Given the description of an element on the screen output the (x, y) to click on. 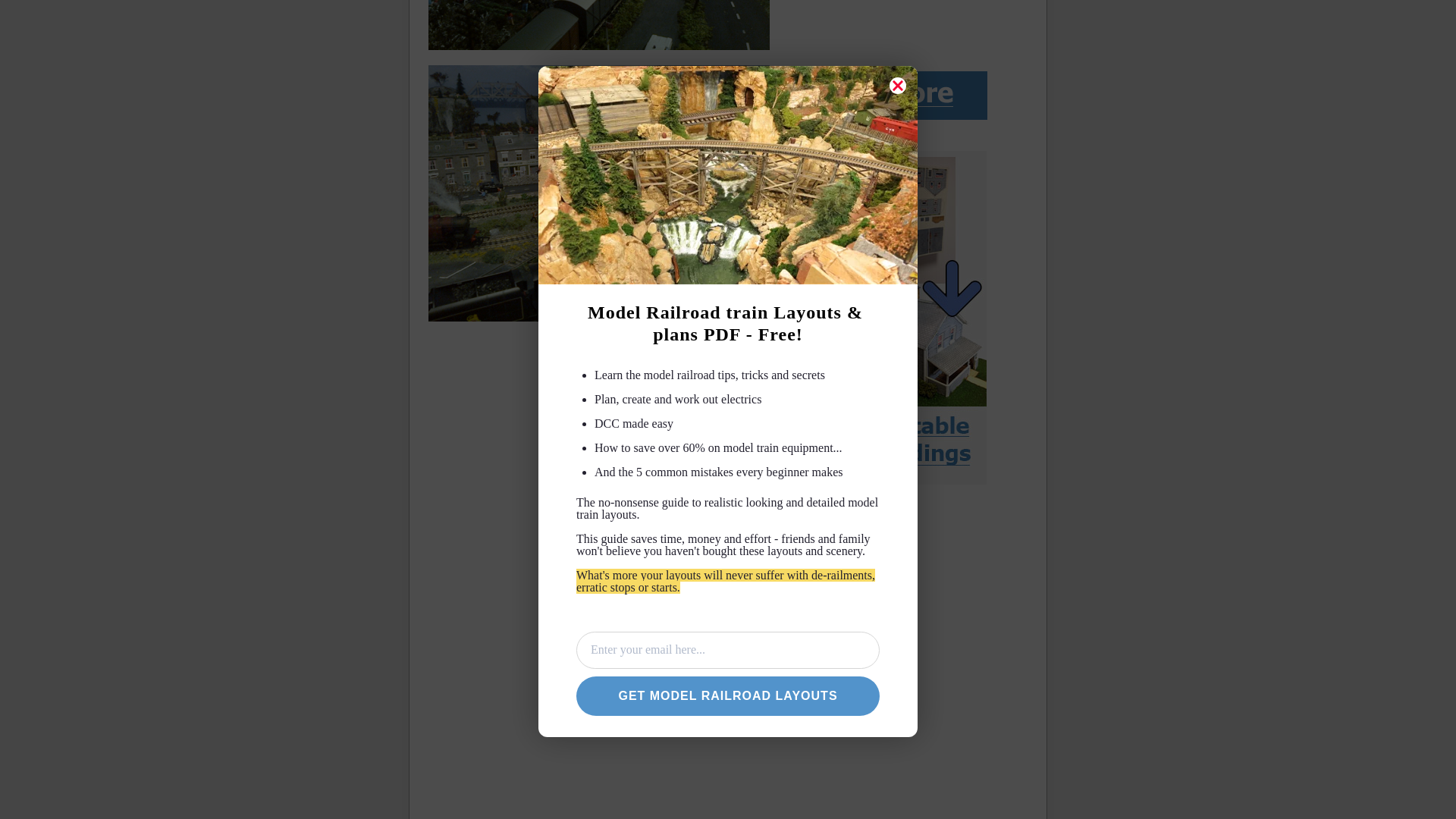
Photo0277 (599, 24)
